Given the description of an element on the screen output the (x, y) to click on. 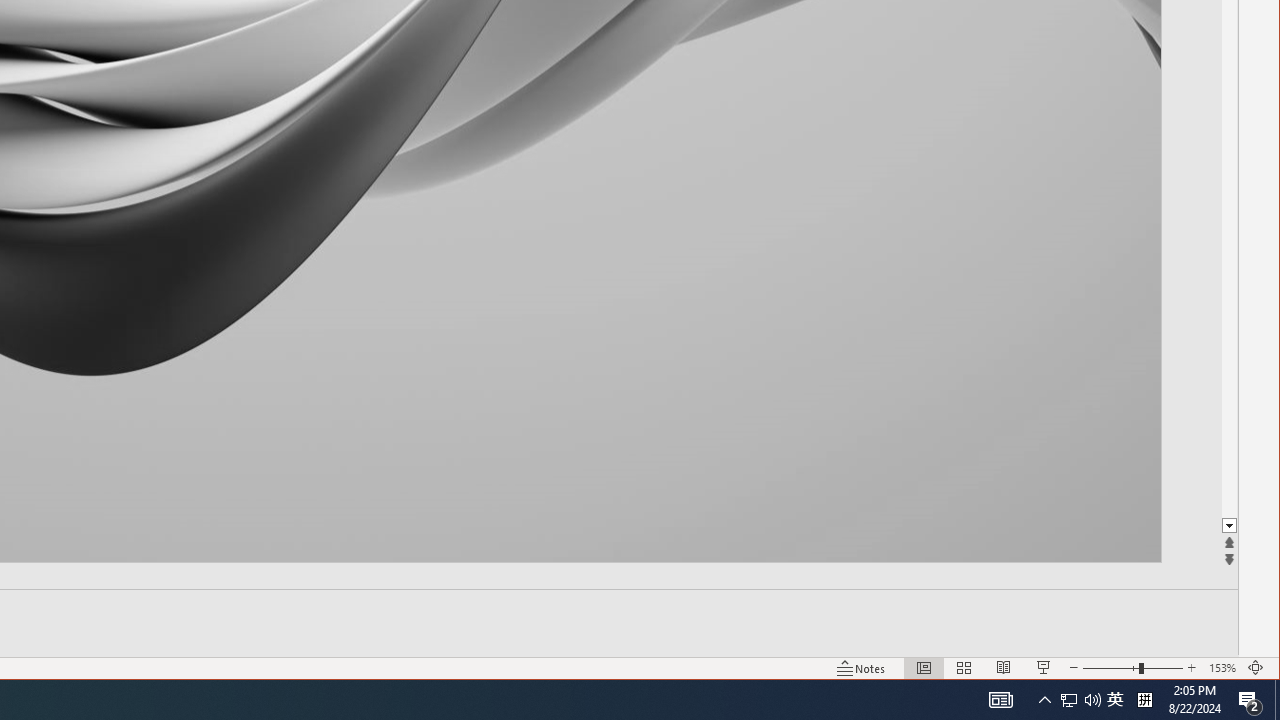
Zoom 153% (1222, 668)
